Given the description of an element on the screen output the (x, y) to click on. 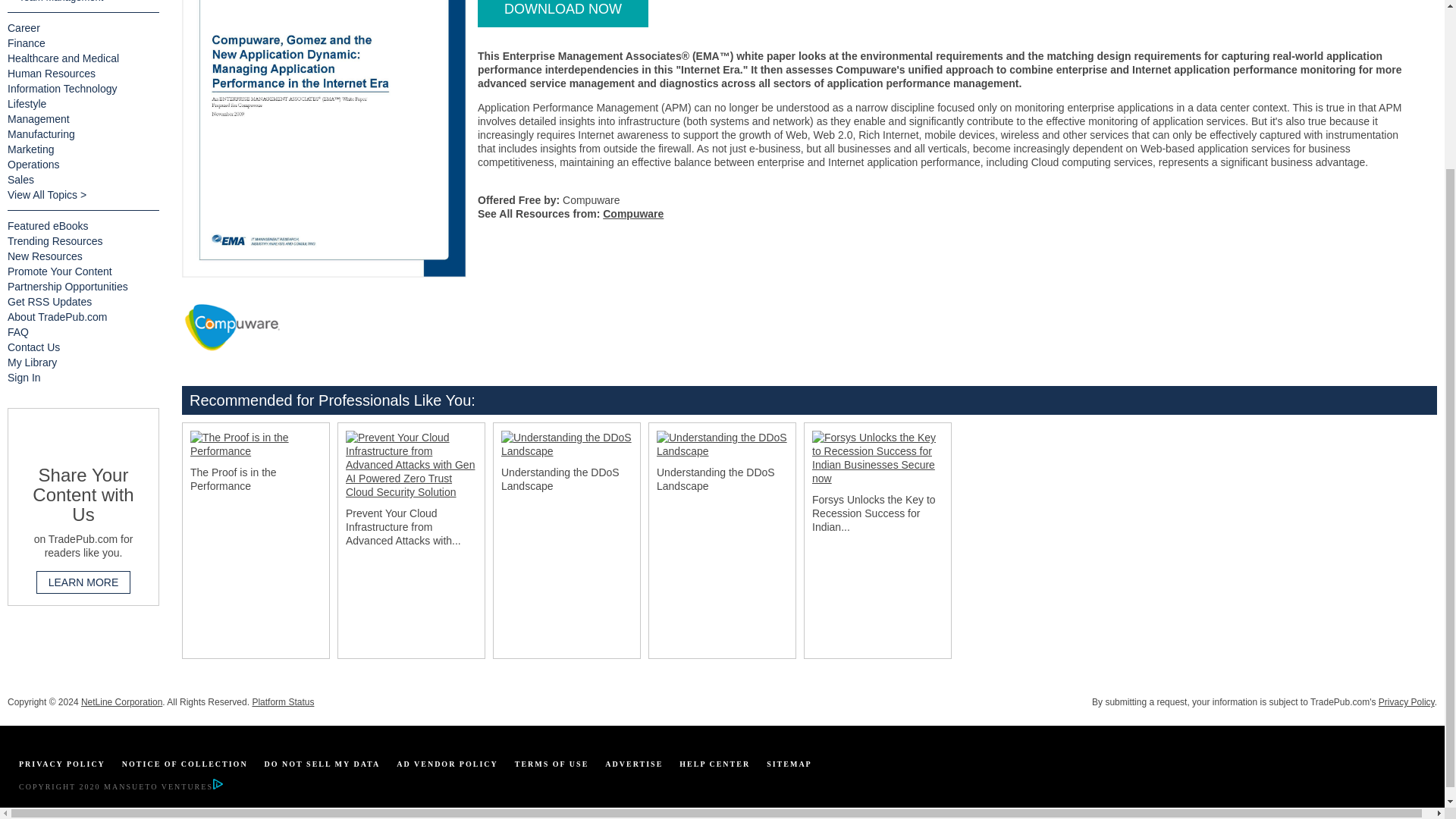
Get more information about do not sell my data on Inc.com (322, 764)
Get more information about help Center on Inc.com (714, 764)
Get more information about terms of use on Inc.com (552, 764)
Get more information about Advertise on Inc.com (633, 764)
Get more information about Ad vendor policy on Inc.com (446, 764)
Get more information about Notice of collection on Inc.com (184, 764)
Get more information about sitemap on Inc.com (789, 764)
Read more about your Ad Choices (217, 786)
Get more information about Privacy policy on Inc.com (61, 764)
